Given the description of an element on the screen output the (x, y) to click on. 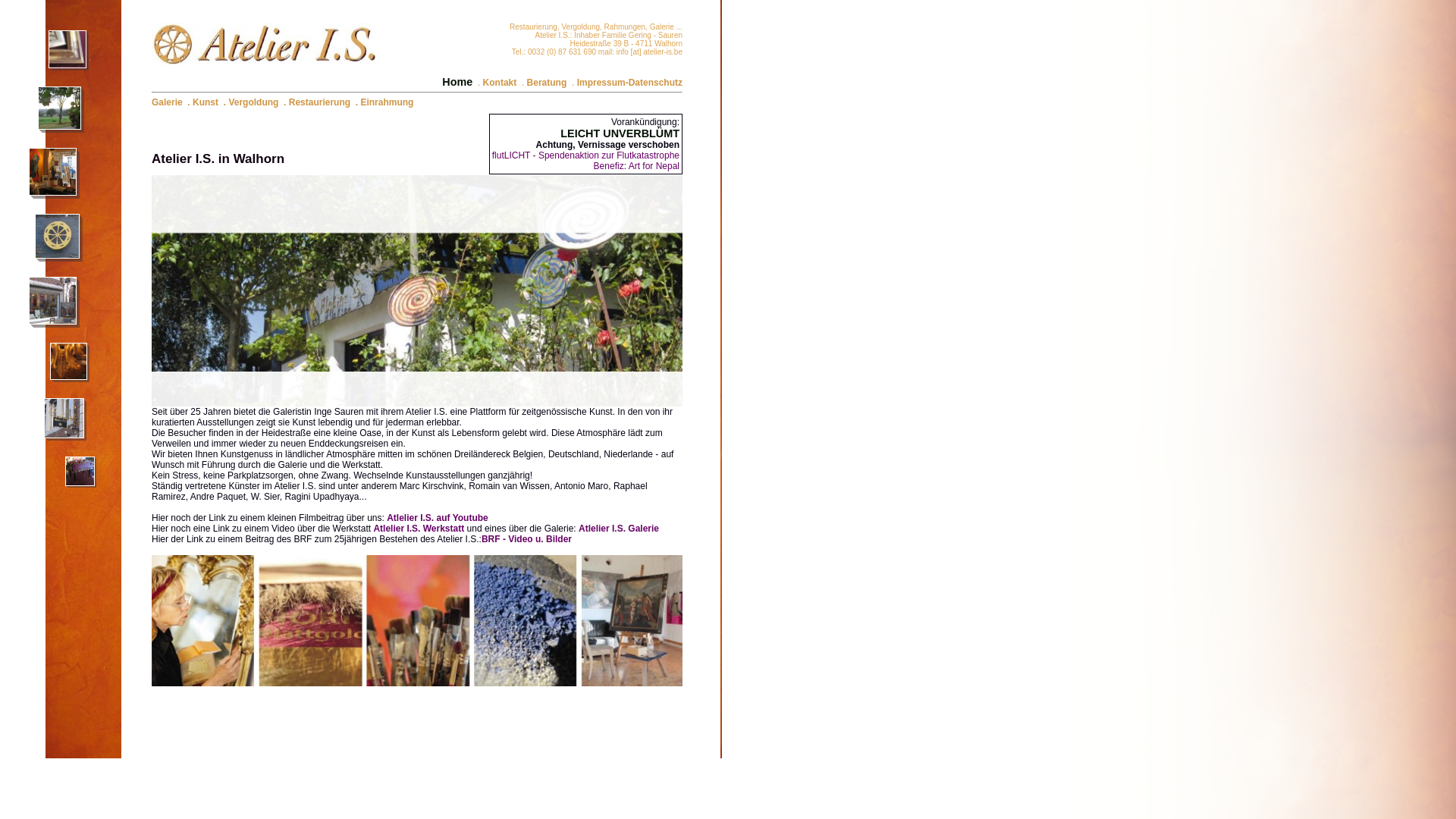
Atlelier I.S. Galerie Element type: text (618, 528)
Einrahmung Element type: text (386, 102)
Restaurierung Element type: text (319, 102)
Galerie Element type: text (166, 102)
Vergoldung Element type: text (253, 102)
Kontakt Element type: text (500, 82)
Atlelier I.S. auf Youtube Element type: text (437, 517)
Kunst Element type: text (205, 102)
Atlelier I.S. Werkstatt Element type: text (418, 528)
Beratung Element type: text (547, 82)
Home Element type: text (457, 81)
flutLICHT - Spendenaktion zur Flutkatastrophe Element type: text (585, 155)
Benefiz: Art for Nepal Element type: text (636, 165)
BRF - Video u. Bilder Element type: text (526, 538)
Impressum-Datenschutz Element type: text (629, 82)
